Given the description of an element on the screen output the (x, y) to click on. 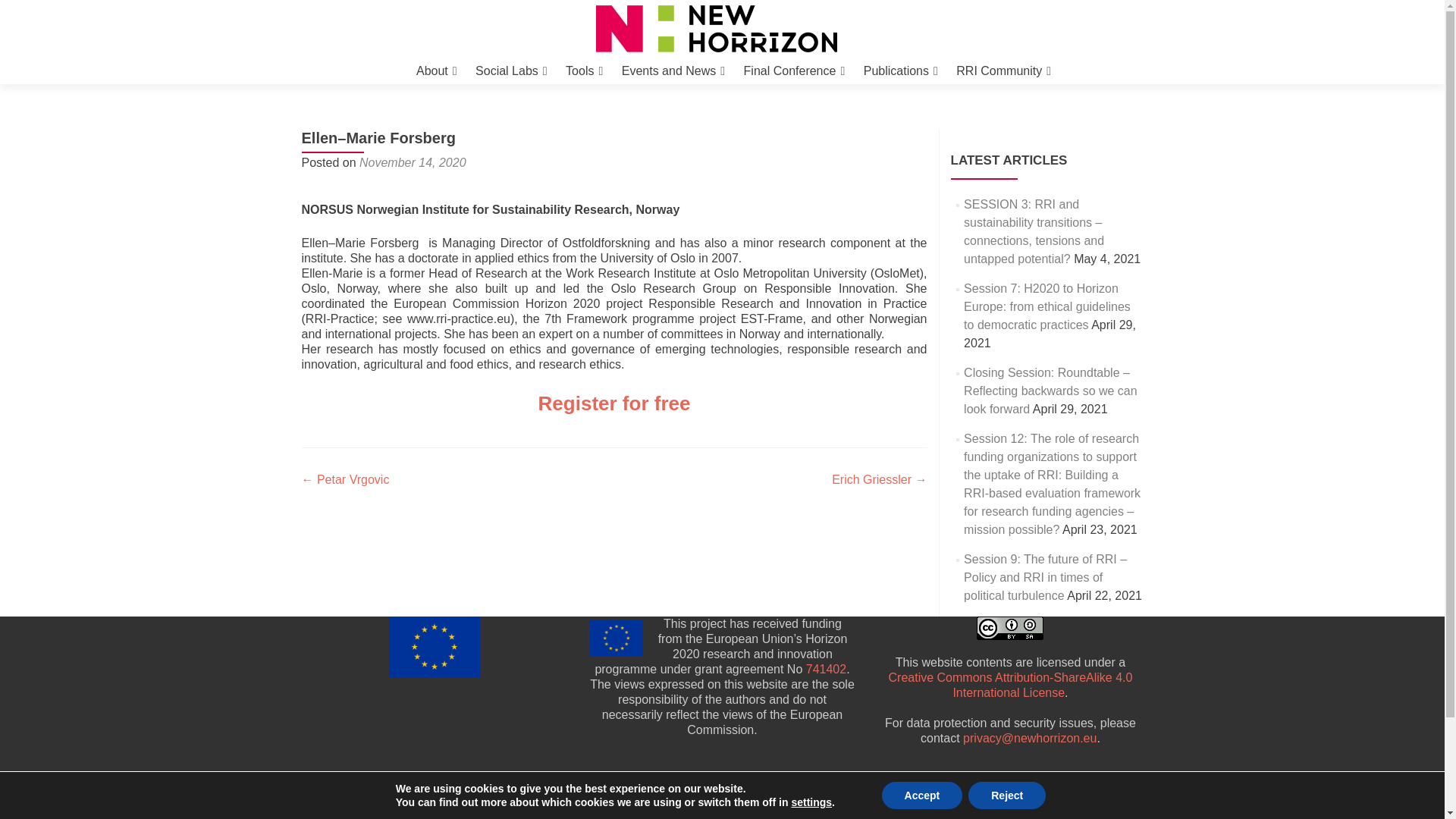
About (436, 70)
Tools (584, 70)
Events and News (673, 70)
Social Labs (511, 70)
